Given the description of an element on the screen output the (x, y) to click on. 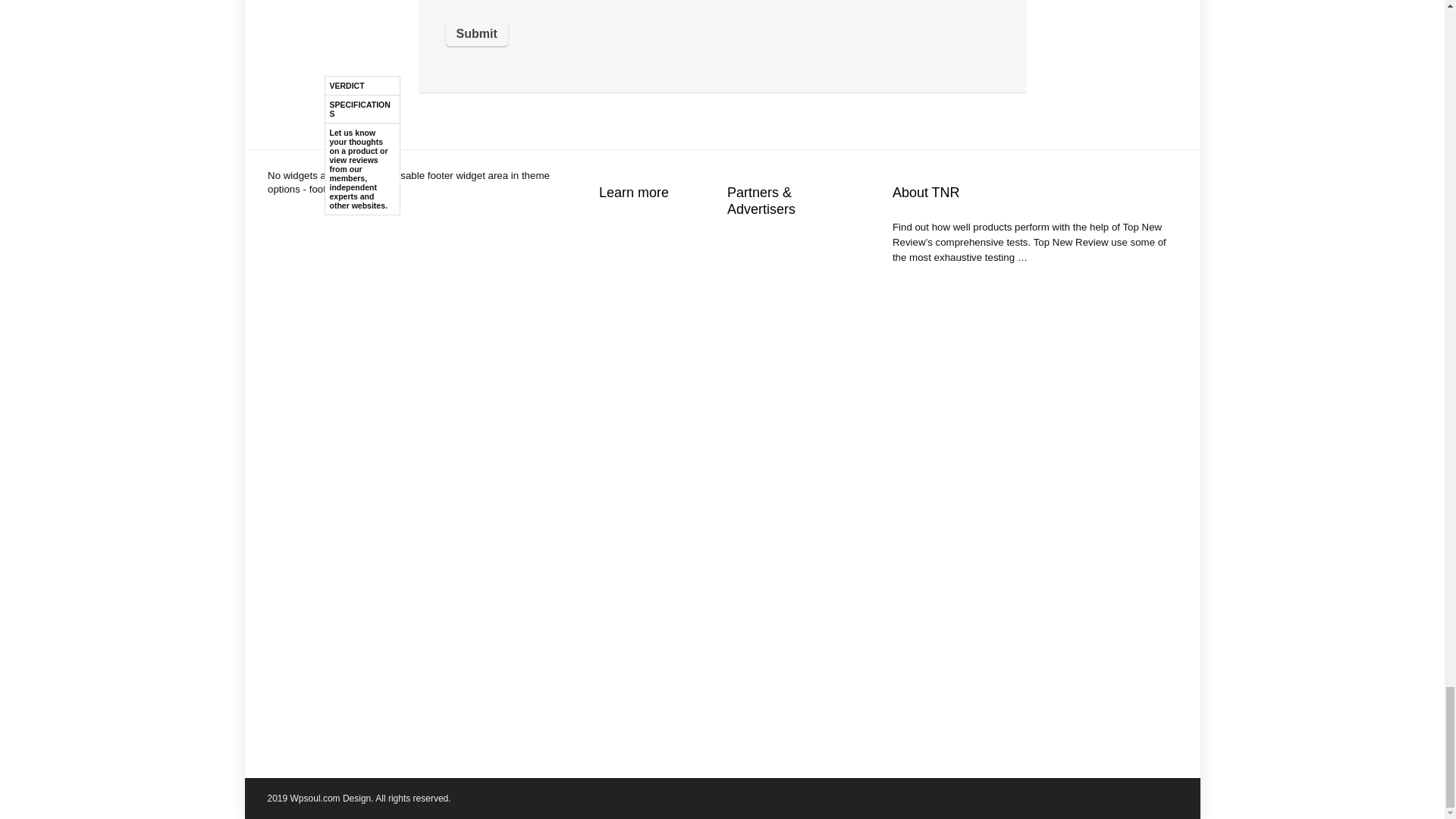
Submit (476, 33)
Submit (476, 33)
